Given the description of an element on the screen output the (x, y) to click on. 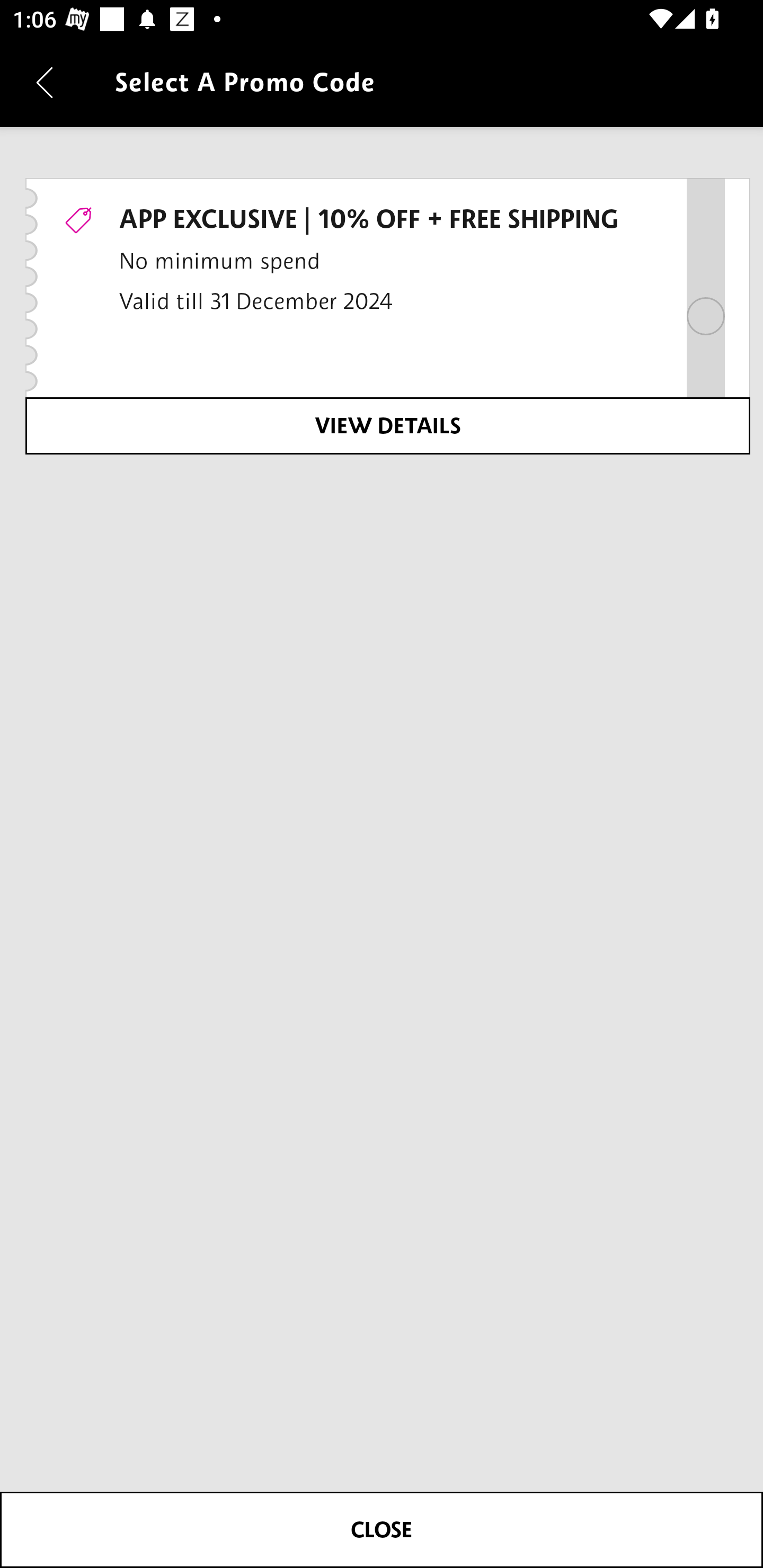
Navigate up (44, 82)
VIEW DETAILS (387, 425)
CLOSE (381, 1529)
